Given the description of an element on the screen output the (x, y) to click on. 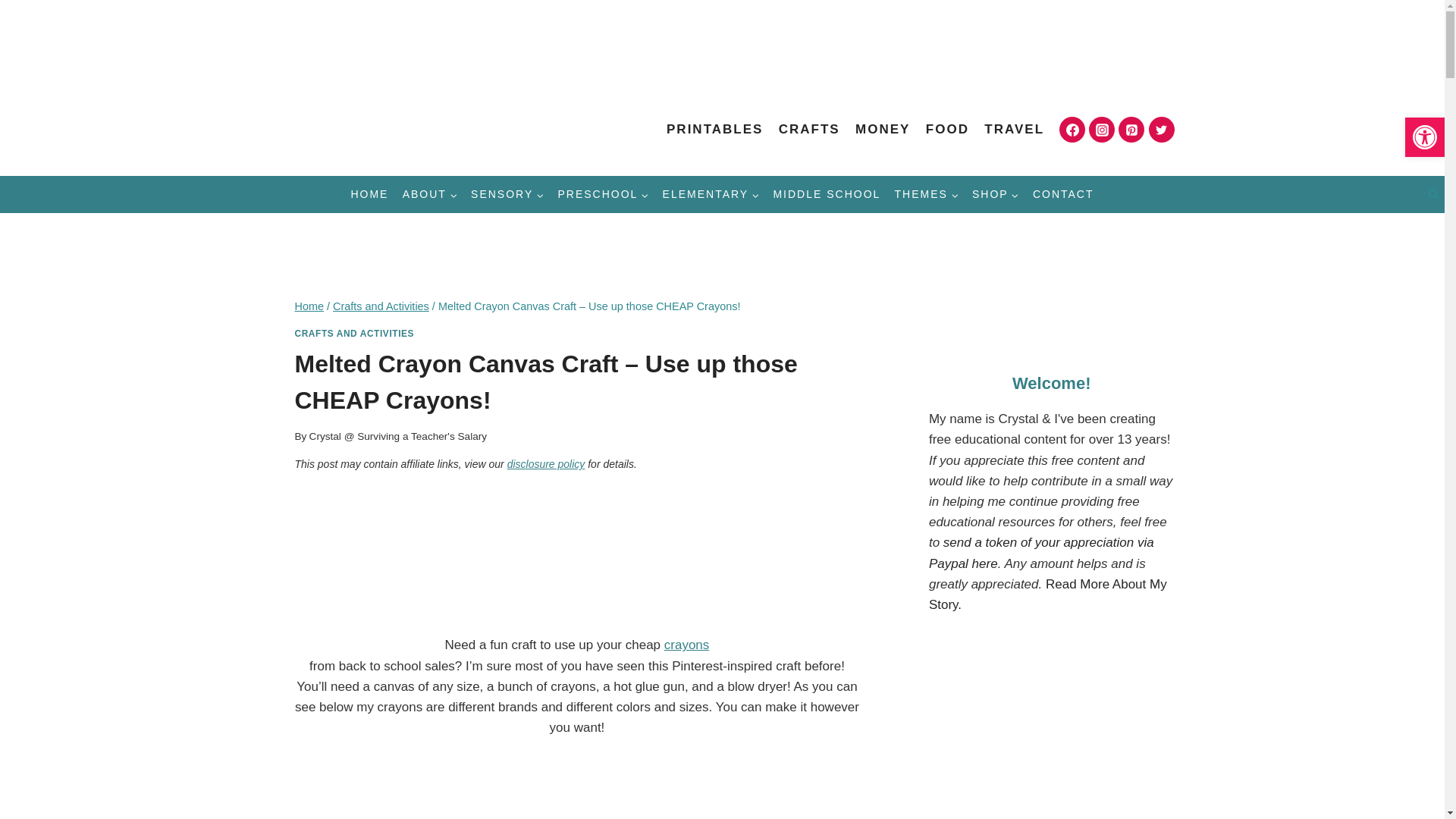
SENSORY (507, 194)
MIDDLE SCHOOL (825, 194)
HOME (368, 194)
THEMES (925, 194)
FOOD (947, 129)
MONEY (882, 129)
PRESCHOOL (602, 194)
Pin It (407, 553)
CRAFTS (809, 129)
PRINTABLES (715, 129)
TRAVEL (1013, 129)
ABOUT (430, 194)
ELEMENTARY (710, 194)
